Given the description of an element on the screen output the (x, y) to click on. 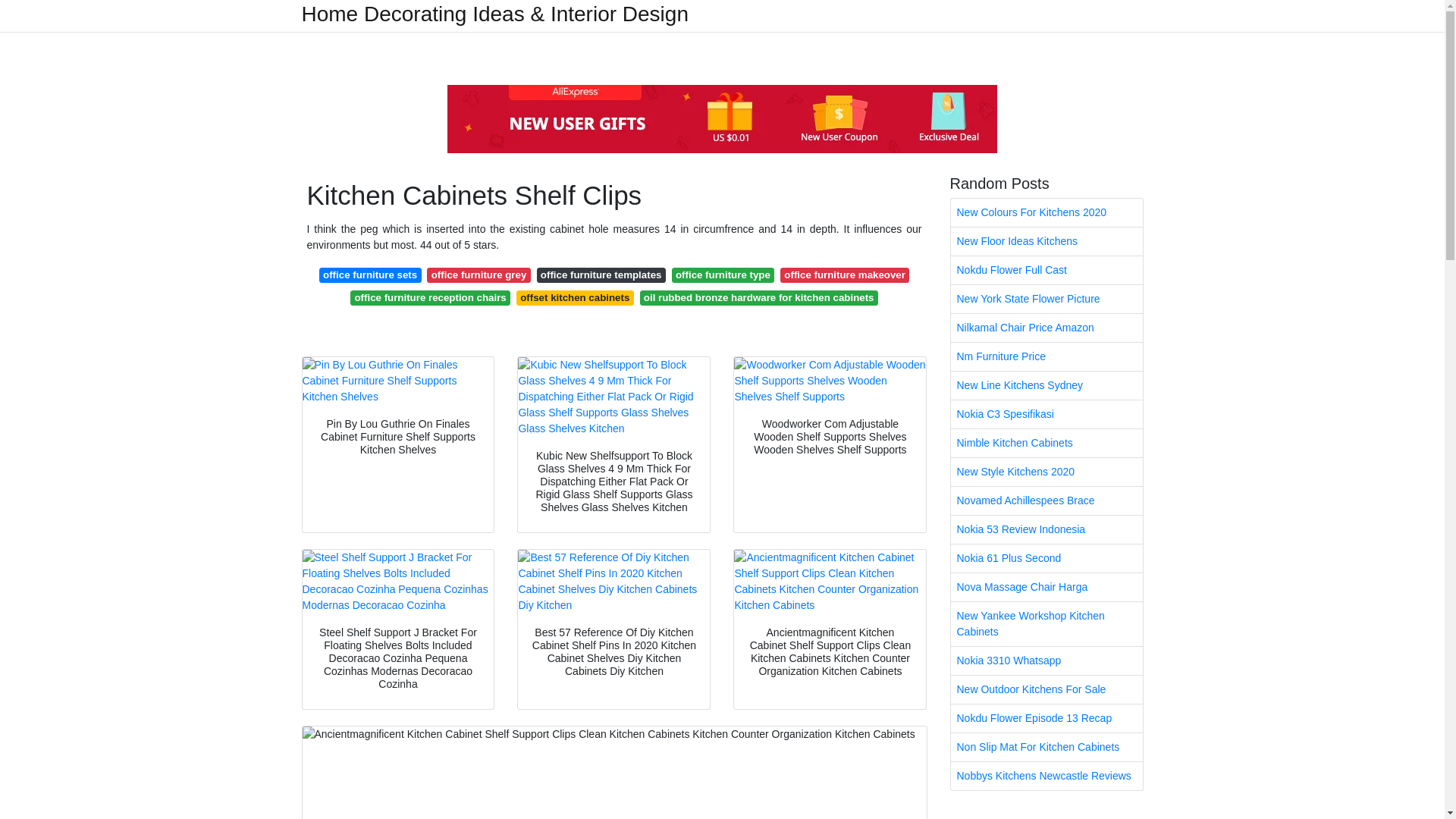
office furniture sets (370, 274)
offset kitchen cabinets (574, 297)
New York State Flower Picture (1046, 298)
office furniture type (722, 274)
office furniture makeover (844, 274)
New Colours For Kitchens 2020 (1046, 212)
New Line Kitchens Sydney (1046, 385)
Nilkamal Chair Price Amazon (1046, 327)
office furniture templates (601, 274)
Nokia C3 Spesifikasi (1046, 414)
New Floor Ideas Kitchens (1046, 241)
Nm Furniture Price (1046, 357)
Nimble Kitchen Cabinets (1046, 443)
oil rubbed bronze hardware for kitchen cabinets (758, 297)
office furniture reception chairs (430, 297)
